Given the description of an element on the screen output the (x, y) to click on. 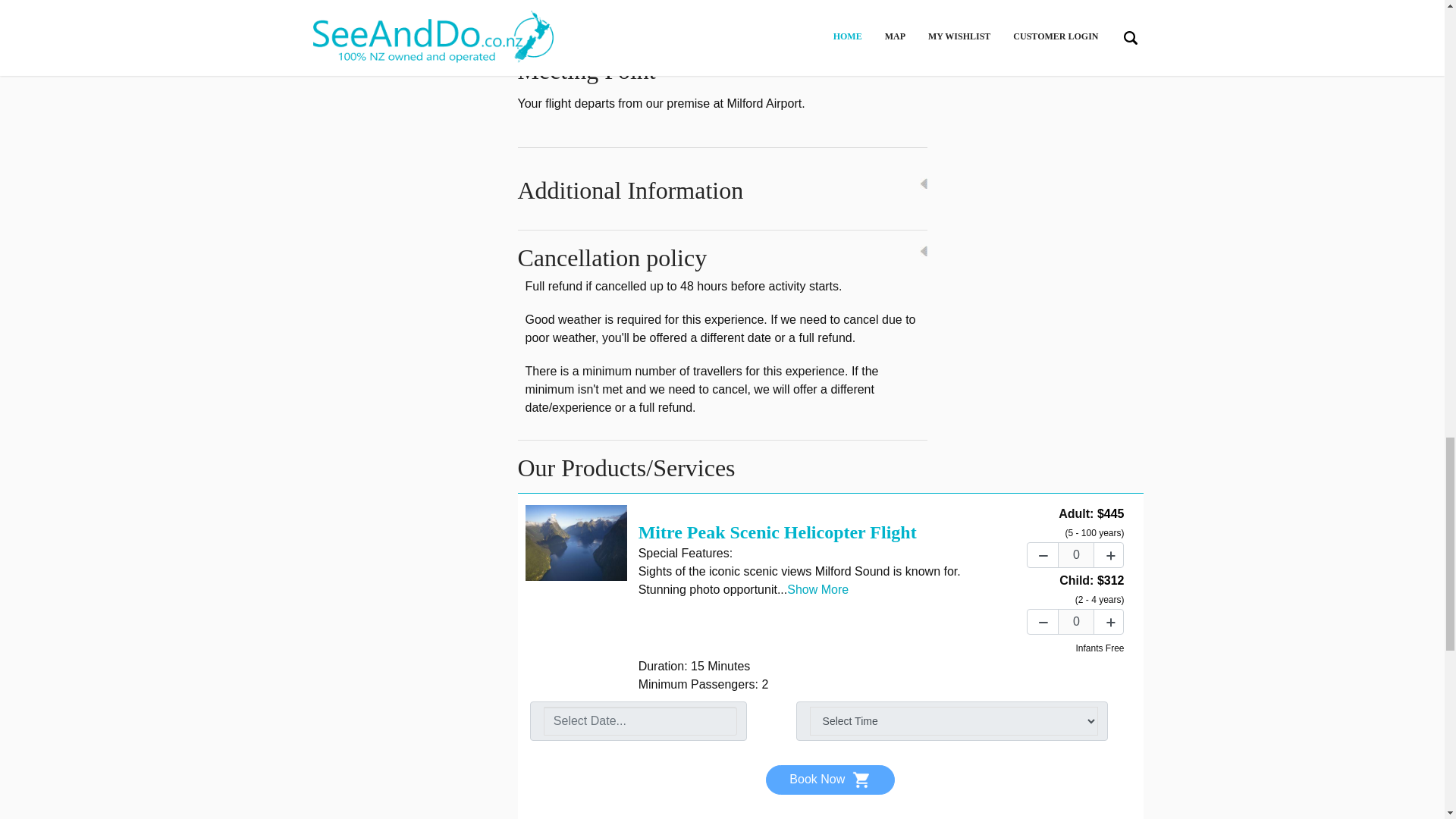
0 (1076, 554)
0 (1076, 621)
